Given the description of an element on the screen output the (x, y) to click on. 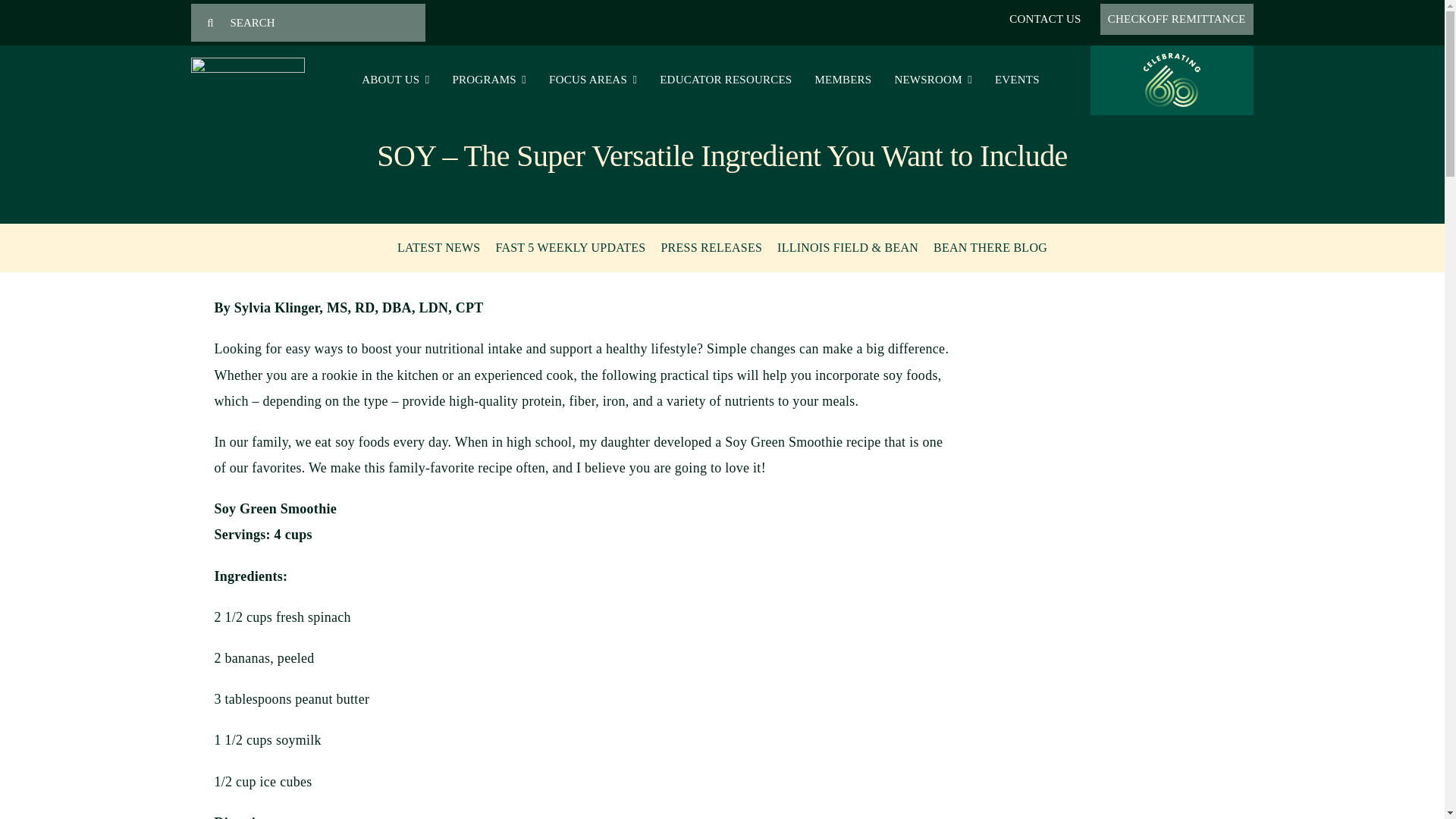
EVENTS (1020, 75)
PROGRAMS (492, 75)
MEMBERS (846, 75)
NEWSROOM (936, 75)
CONTACT US (1045, 18)
FOCUS AREAS (596, 75)
CHECKOFF REMITTANCE (1176, 18)
ABOUT US (398, 75)
EDUCATOR RESOURCES (729, 75)
